Given the description of an element on the screen output the (x, y) to click on. 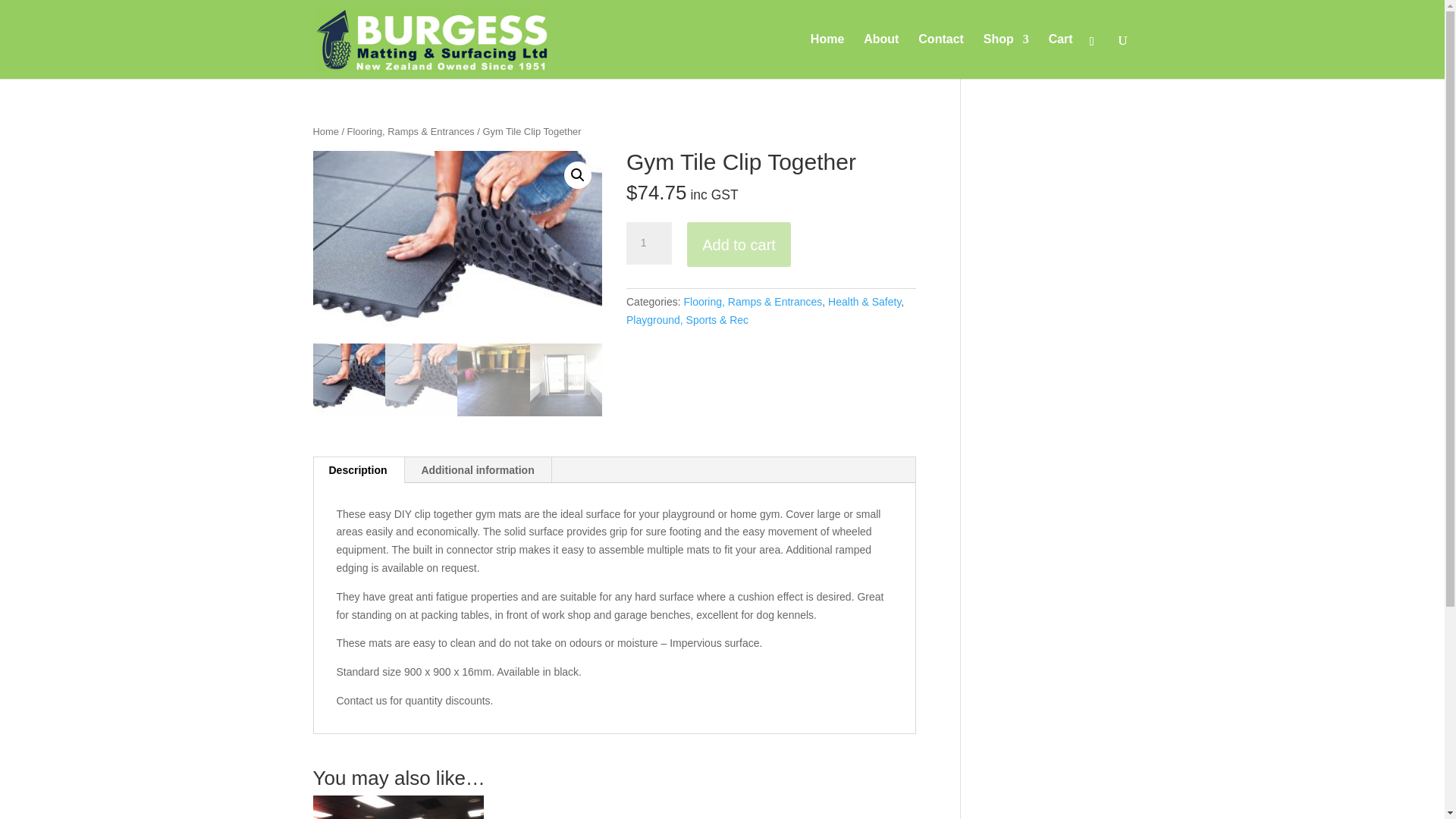
Description (358, 470)
Add to cart (738, 243)
Home (827, 56)
Contact (940, 56)
Shop (1006, 56)
1 (648, 242)
About (880, 56)
Cart (1060, 56)
Home (325, 131)
Solid top -FHG 02 (457, 246)
